Given the description of an element on the screen output the (x, y) to click on. 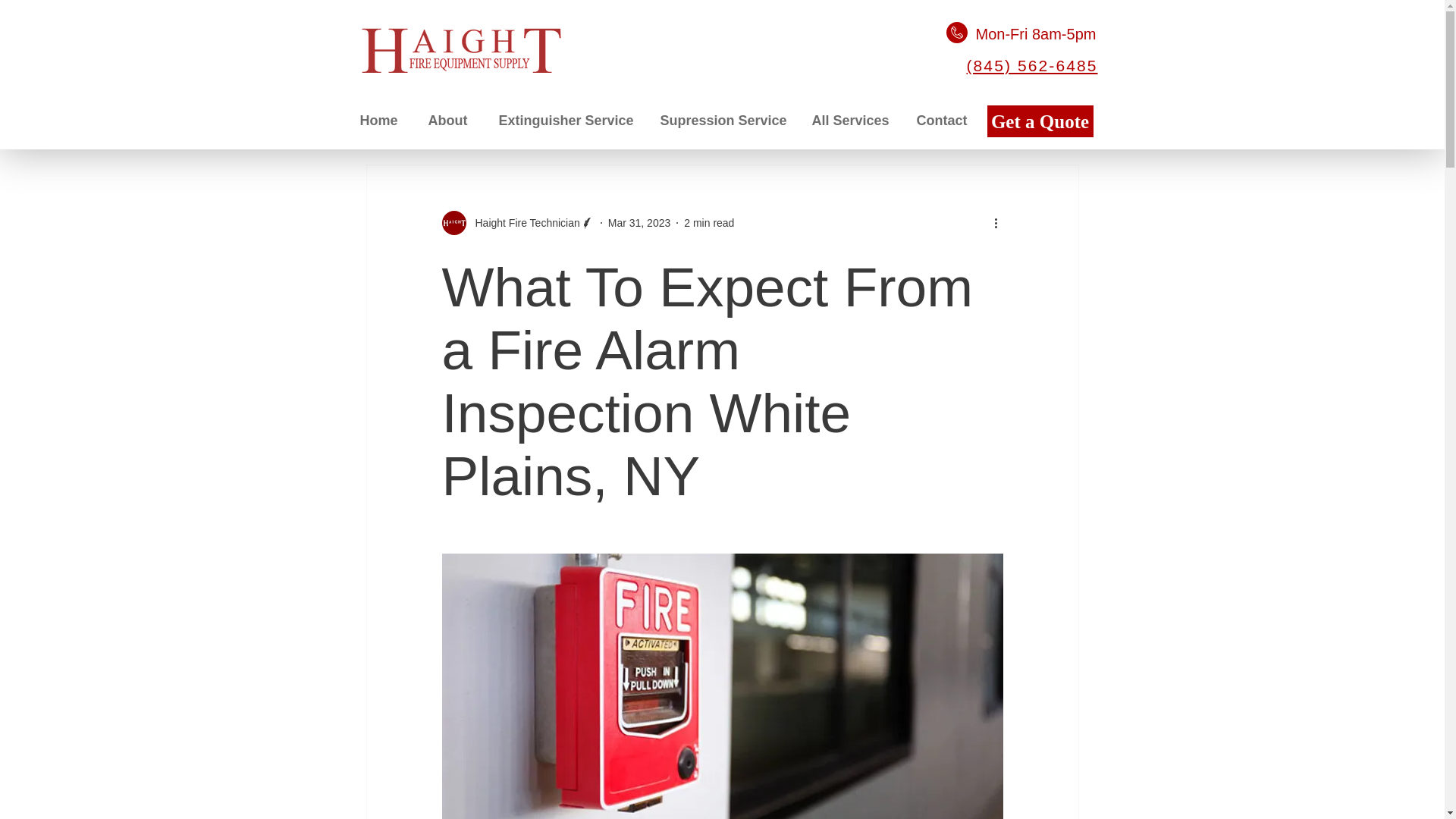
Home (382, 121)
Haight Fire Technician (522, 222)
Mar 31, 2023 (639, 223)
Haight Fire Technician (517, 222)
Supression Service (724, 121)
Extinguisher Service (566, 121)
Contact (946, 121)
2 min read (708, 223)
About (451, 121)
Get a Quote (1040, 121)
